Given the description of an element on the screen output the (x, y) to click on. 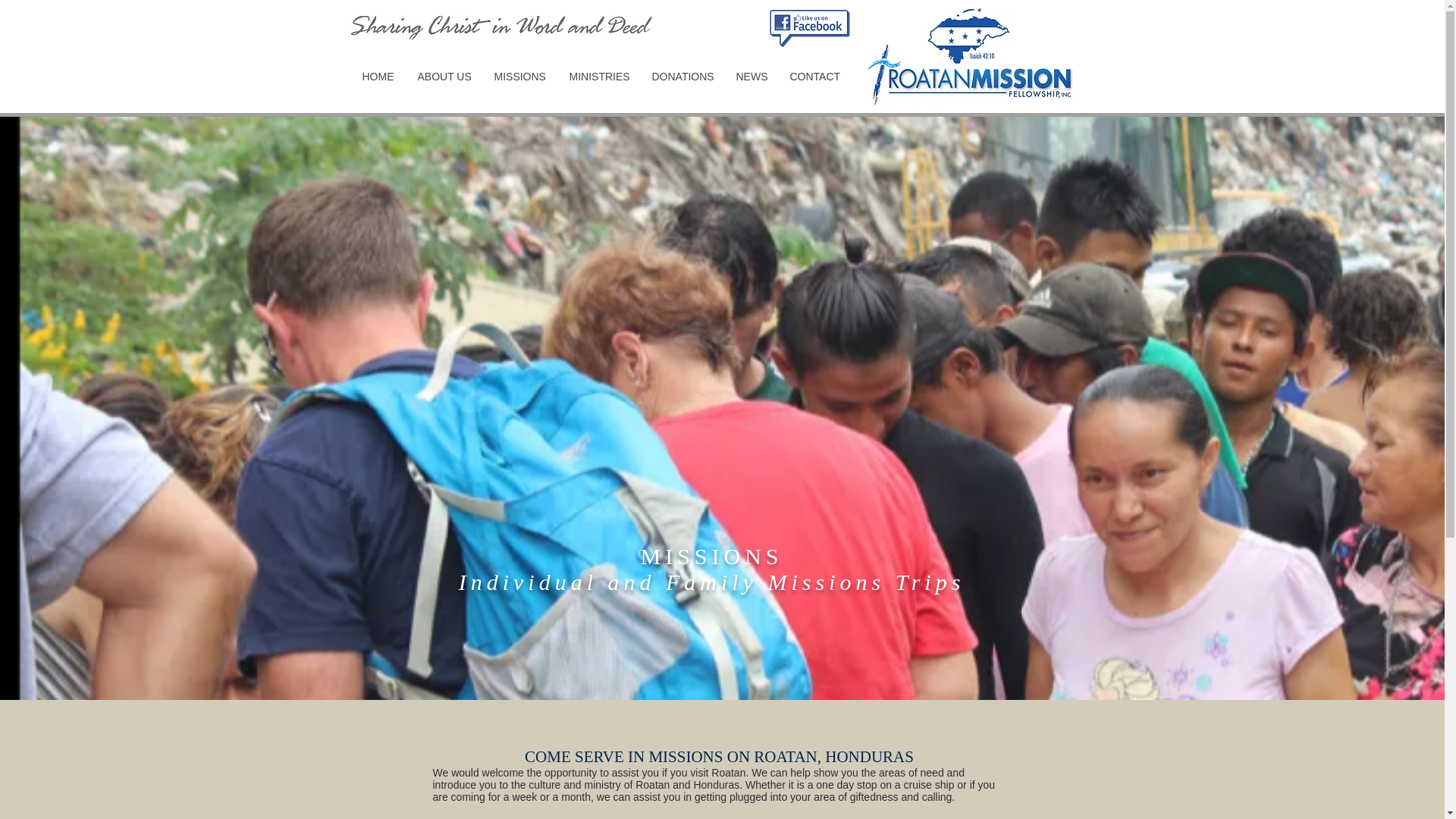
NEWS (750, 76)
ABOUT US (442, 76)
HOME (377, 76)
CONTACT (813, 76)
